Given the description of an element on the screen output the (x, y) to click on. 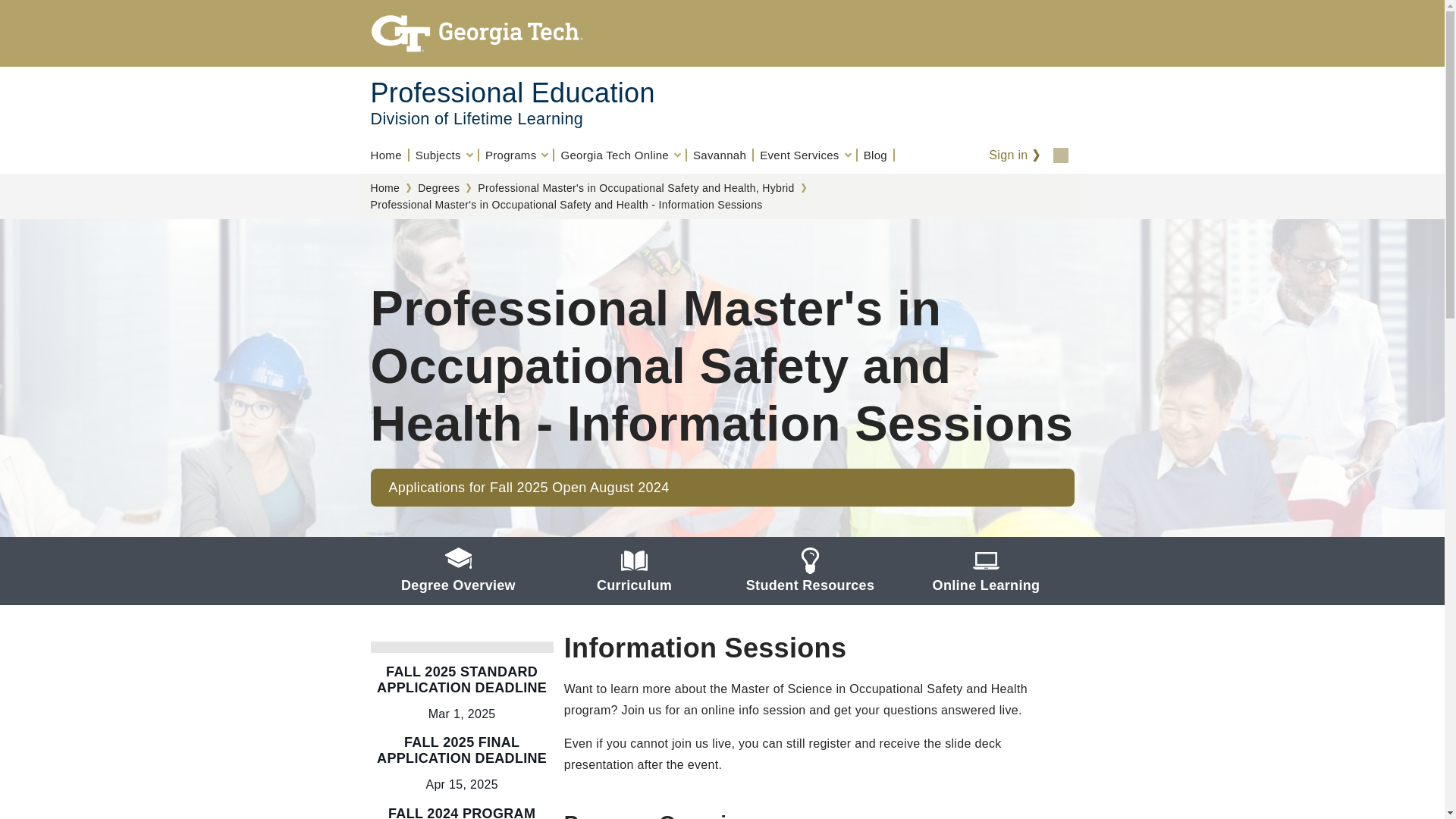
Professional Education (511, 92)
Programs (516, 154)
Subjects (444, 154)
Georgia Tech Online (620, 154)
Savannah (720, 154)
Home (389, 154)
Division of Lifetime Learning (476, 117)
